Given the description of an element on the screen output the (x, y) to click on. 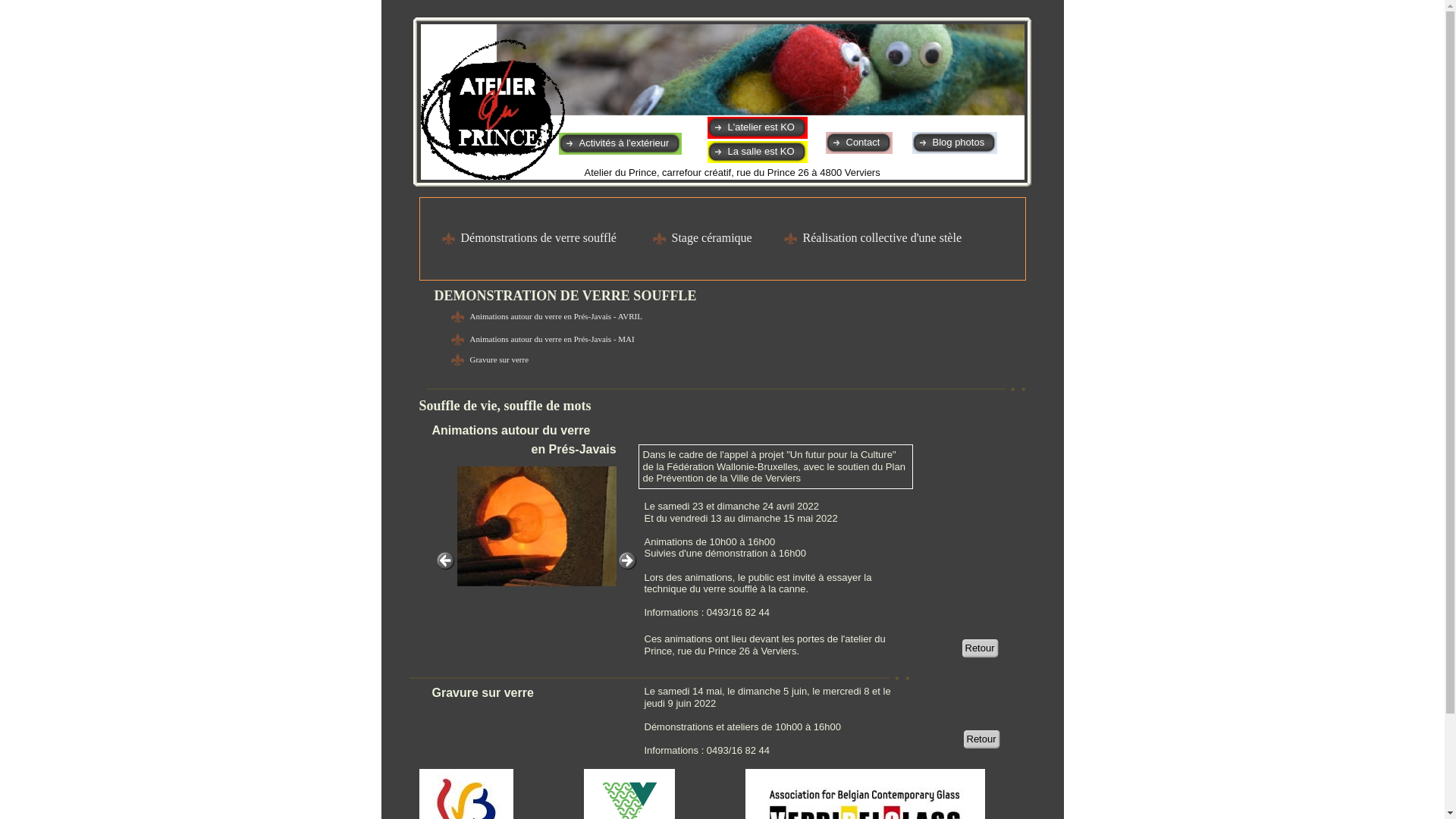
Retour Element type: text (979, 647)
La salle est KO Element type: text (761, 151)
L'atelier est KO Element type: text (761, 126)
L'atelier est KO Element type: text (756, 127)
bulle glory.jpg Element type: hover (535, 526)
Gravure sur verre Element type: text (489, 359)
Gravure sur verre Element type: text (499, 359)
Blog photos Element type: text (958, 141)
Contact Element type: text (863, 141)
Retour Element type: text (979, 648)
Contact Element type: text (858, 142)
Retour Element type: text (980, 739)
Blog photos Element type: text (954, 142)
Retour Element type: text (980, 738)
La salle est KO Element type: text (756, 152)
